Given the description of an element on the screen output the (x, y) to click on. 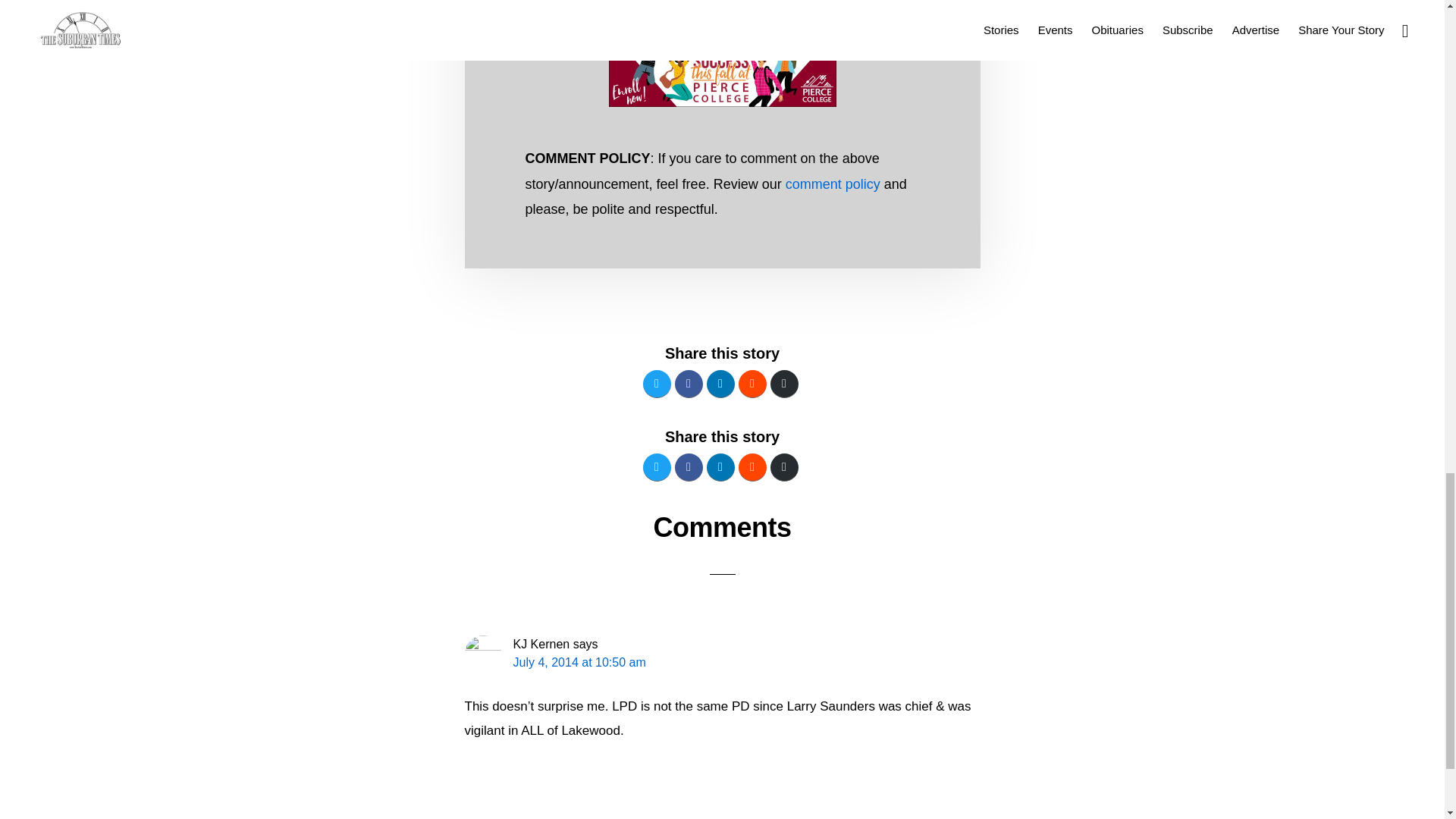
Share on Facebook (689, 384)
Share on LinkedIn (720, 467)
Share on Twitter (657, 467)
Share on Twitter (657, 384)
July 4, 2014 at 10:50 am (578, 662)
Share on Reddit (752, 467)
Share via Email (783, 467)
Share on Twitter (657, 384)
Share via Email (783, 384)
Share on Reddit (752, 384)
